Given the description of an element on the screen output the (x, y) to click on. 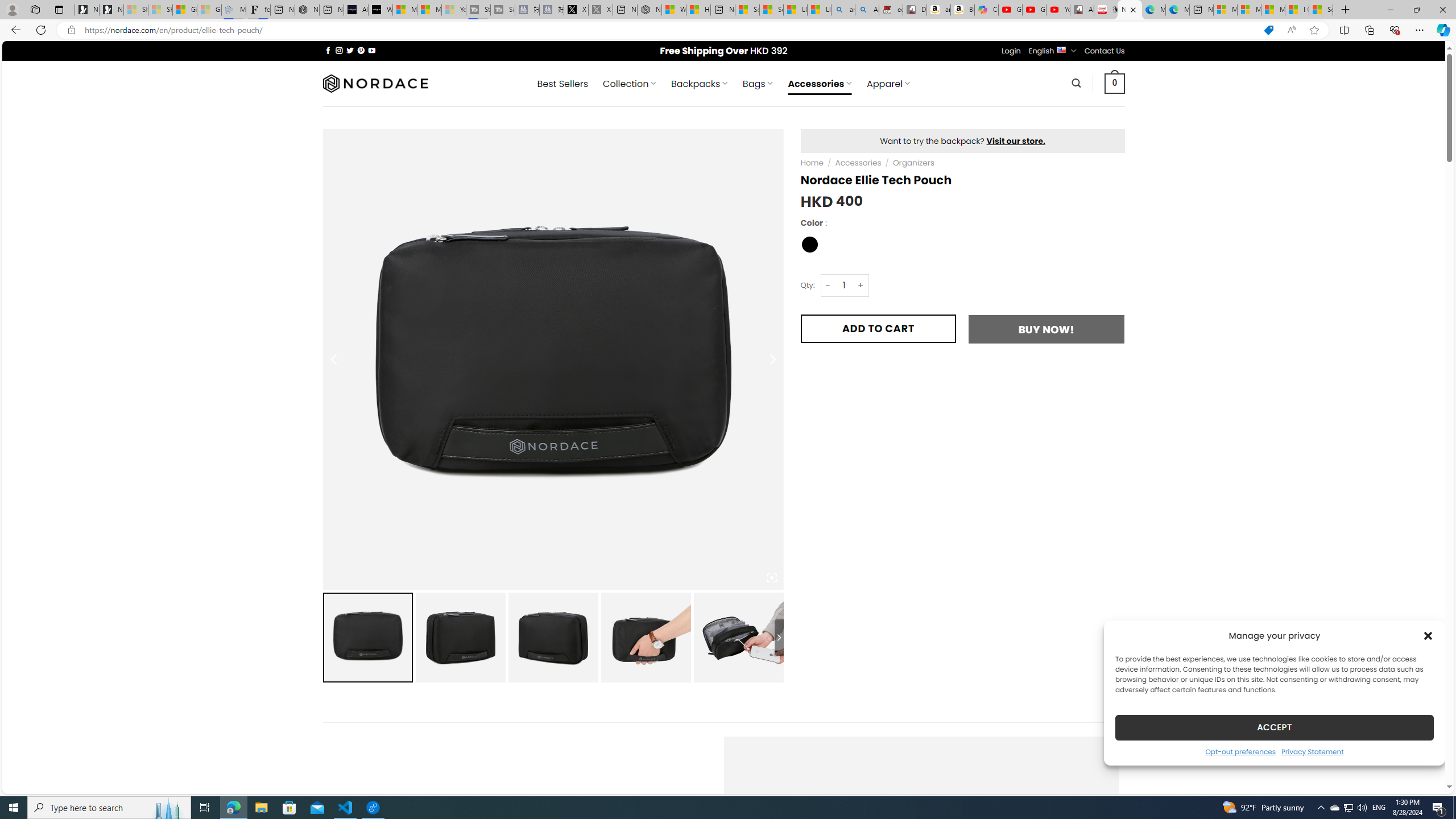
Nordace Ellie Tech Pouch quantity (843, 284)
Accessories (857, 162)
YouTube Kids - An App Created for Kids to Explore Content (1057, 9)
I Gained 20 Pounds of Muscle in 30 Days! | Watch (1296, 9)
Follow on Twitter (349, 49)
